Given the description of an element on the screen output the (x, y) to click on. 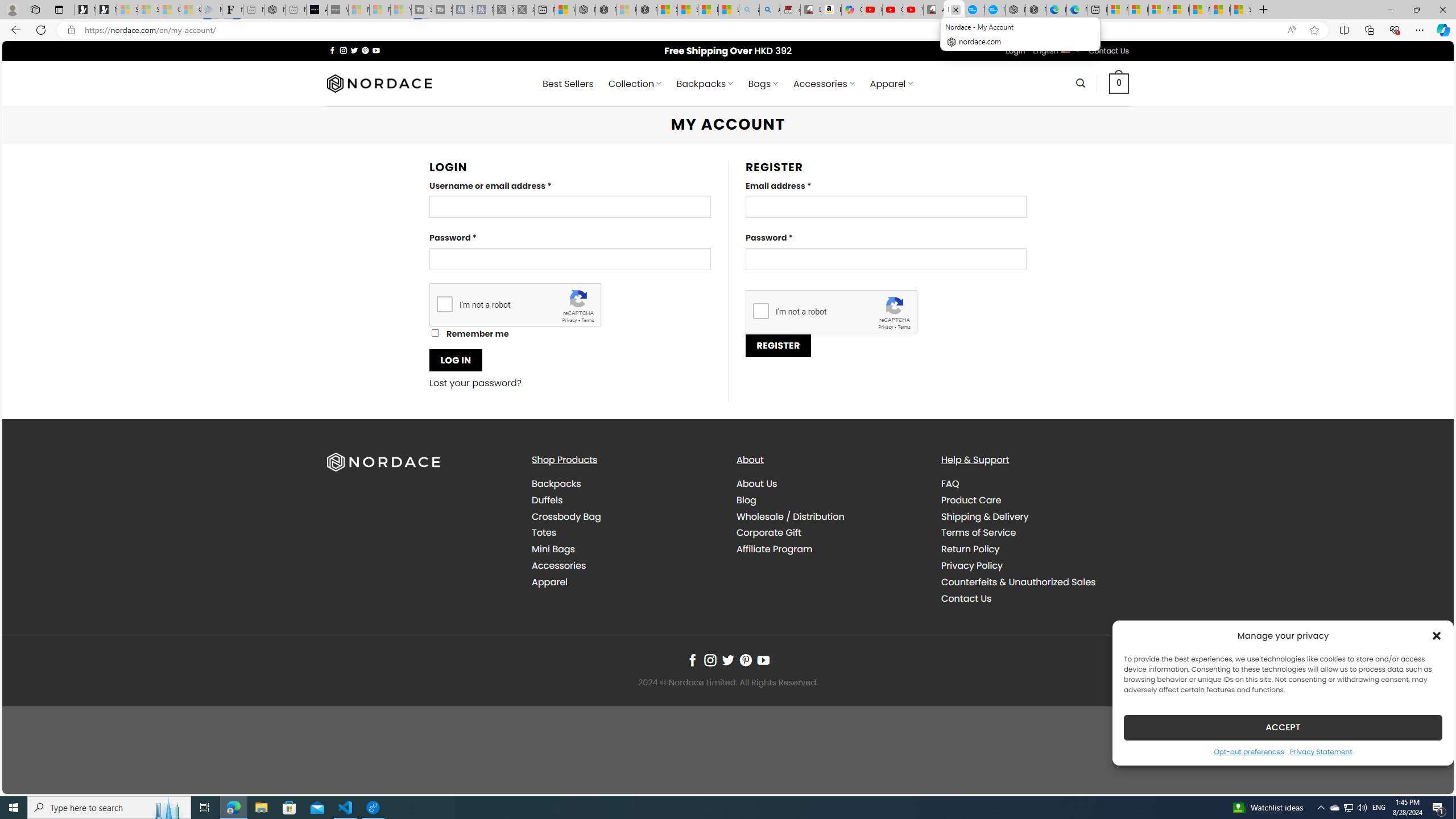
Corporate Gift (768, 532)
YouTube Kids - An App Created for Kids to Explore Content (913, 9)
Terms of Service (1034, 532)
Affiliate Program (774, 549)
Mini Bags (625, 549)
Totes (543, 532)
English (1065, 49)
  Best Sellers (568, 83)
Corporate Gift (830, 532)
 Best Sellers (568, 83)
